Given the description of an element on the screen output the (x, y) to click on. 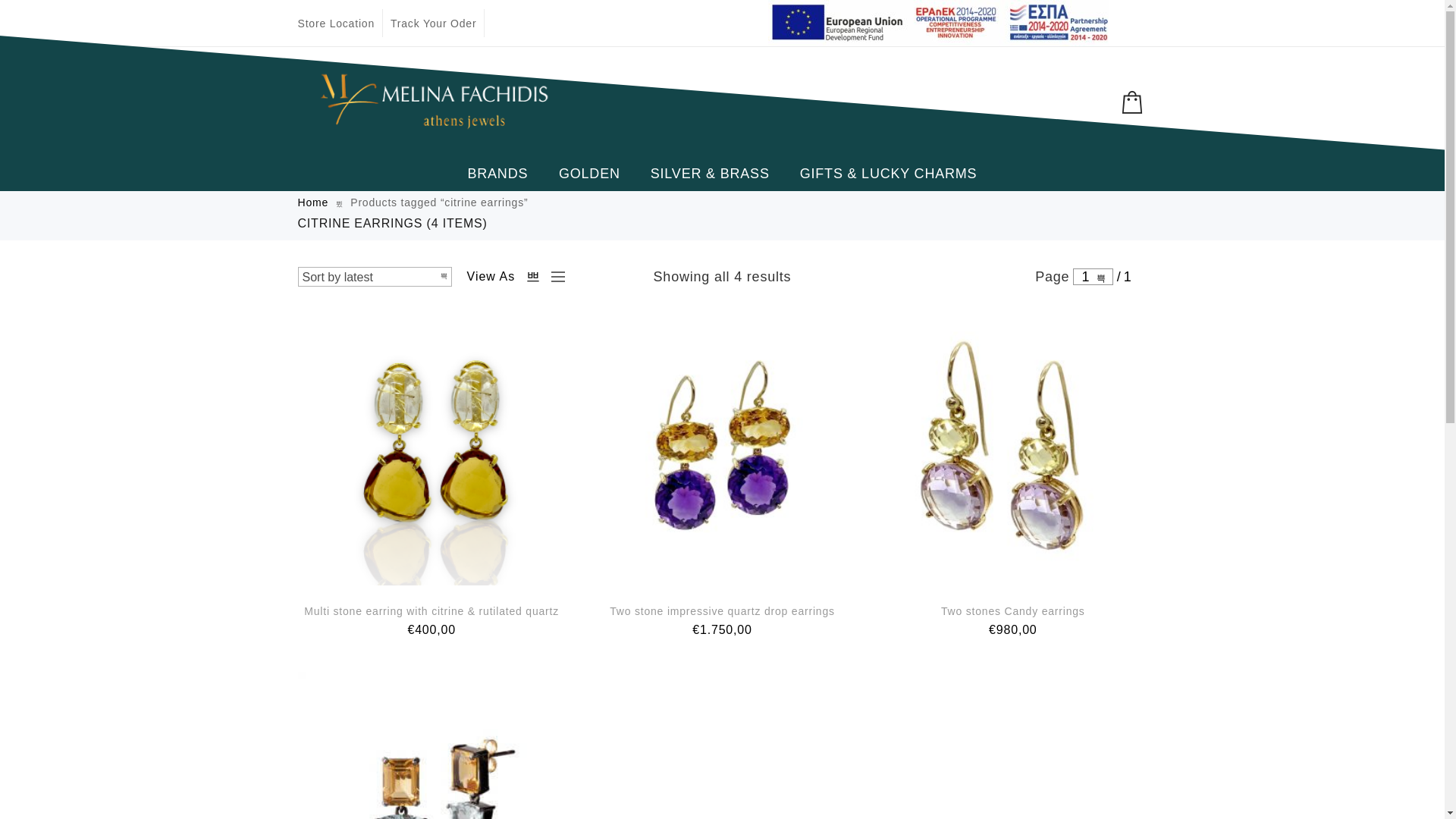
Store Location (335, 23)
Two stones Candy earrings (1012, 611)
Track Your Oder (433, 23)
BRANDS (497, 173)
e bannersEUERDF600X80 (937, 22)
GOLDEN (588, 173)
Two stone impressive quartz drop earrings (722, 611)
Aqua-citrine earrings (430, 745)
List layout (553, 276)
Grid layout (532, 276)
